Given the description of an element on the screen output the (x, y) to click on. 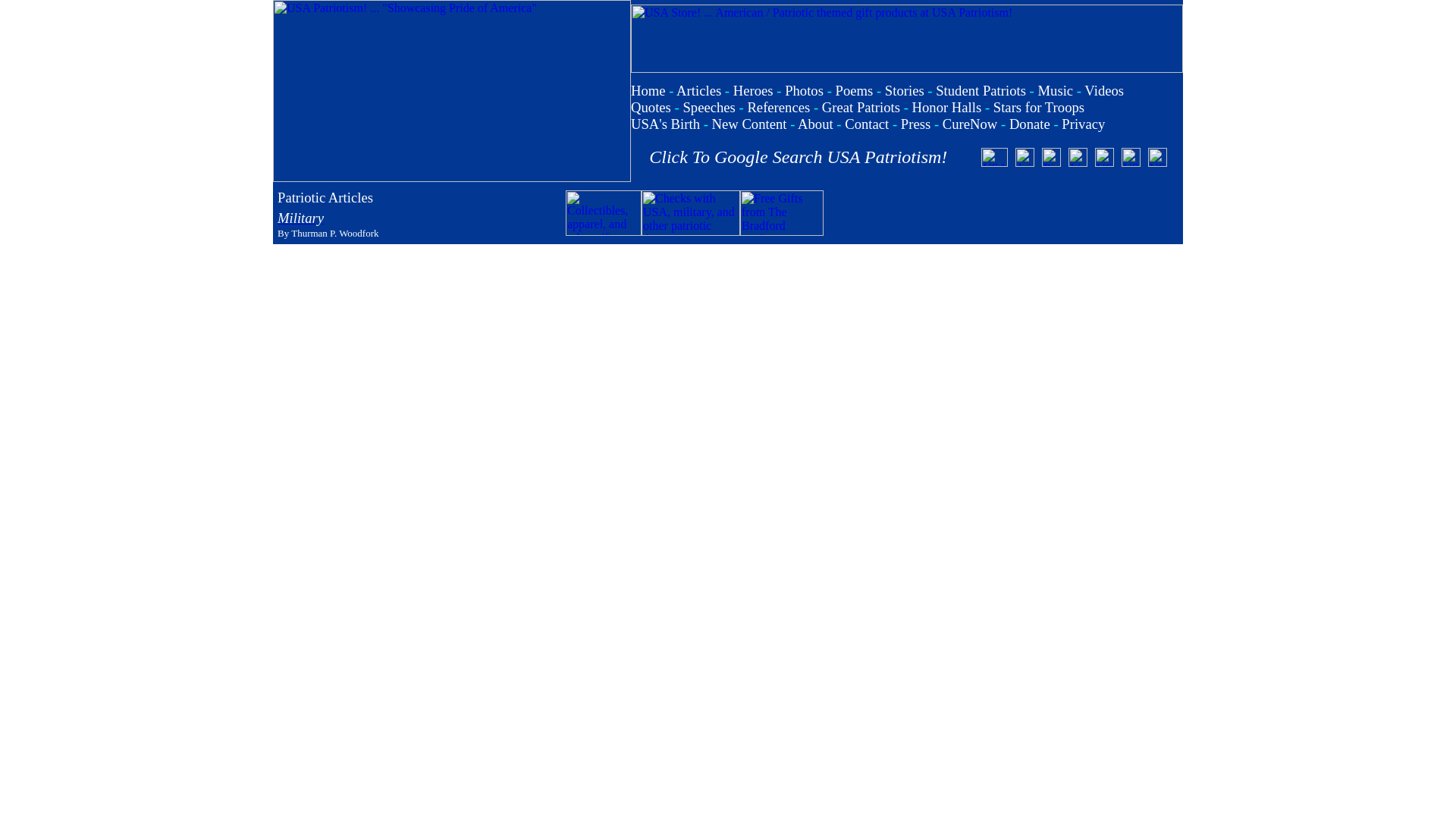
Click To Google Search USA Patriotism! (798, 157)
Articles (698, 90)
CureNow (969, 123)
References (777, 107)
About (814, 123)
Photos (804, 90)
Student Patriots (981, 90)
Contact (866, 123)
Heroes (753, 90)
Great Patriots (860, 107)
